Given the description of an element on the screen output the (x, y) to click on. 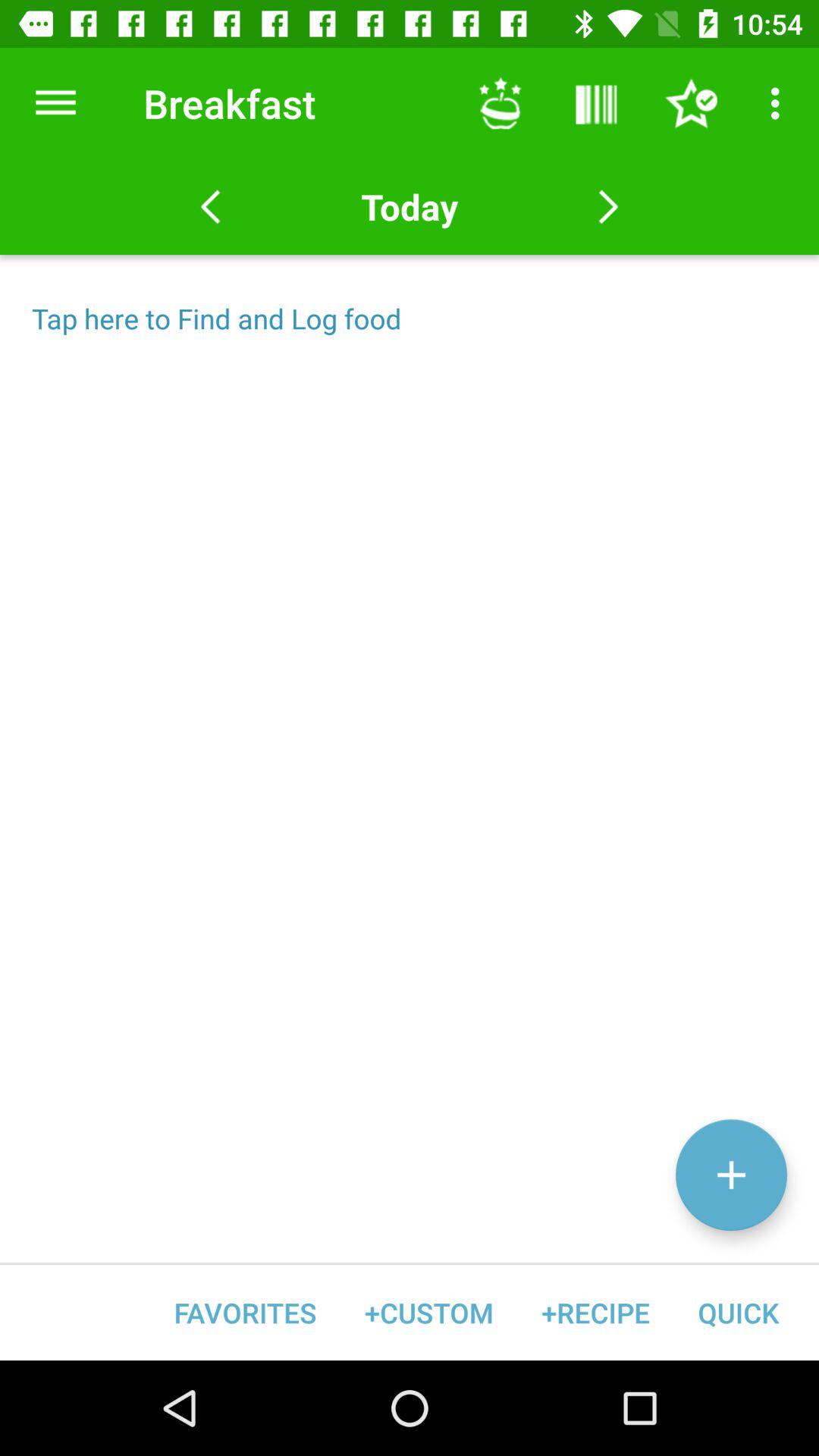
launch quick (738, 1312)
